Given the description of an element on the screen output the (x, y) to click on. 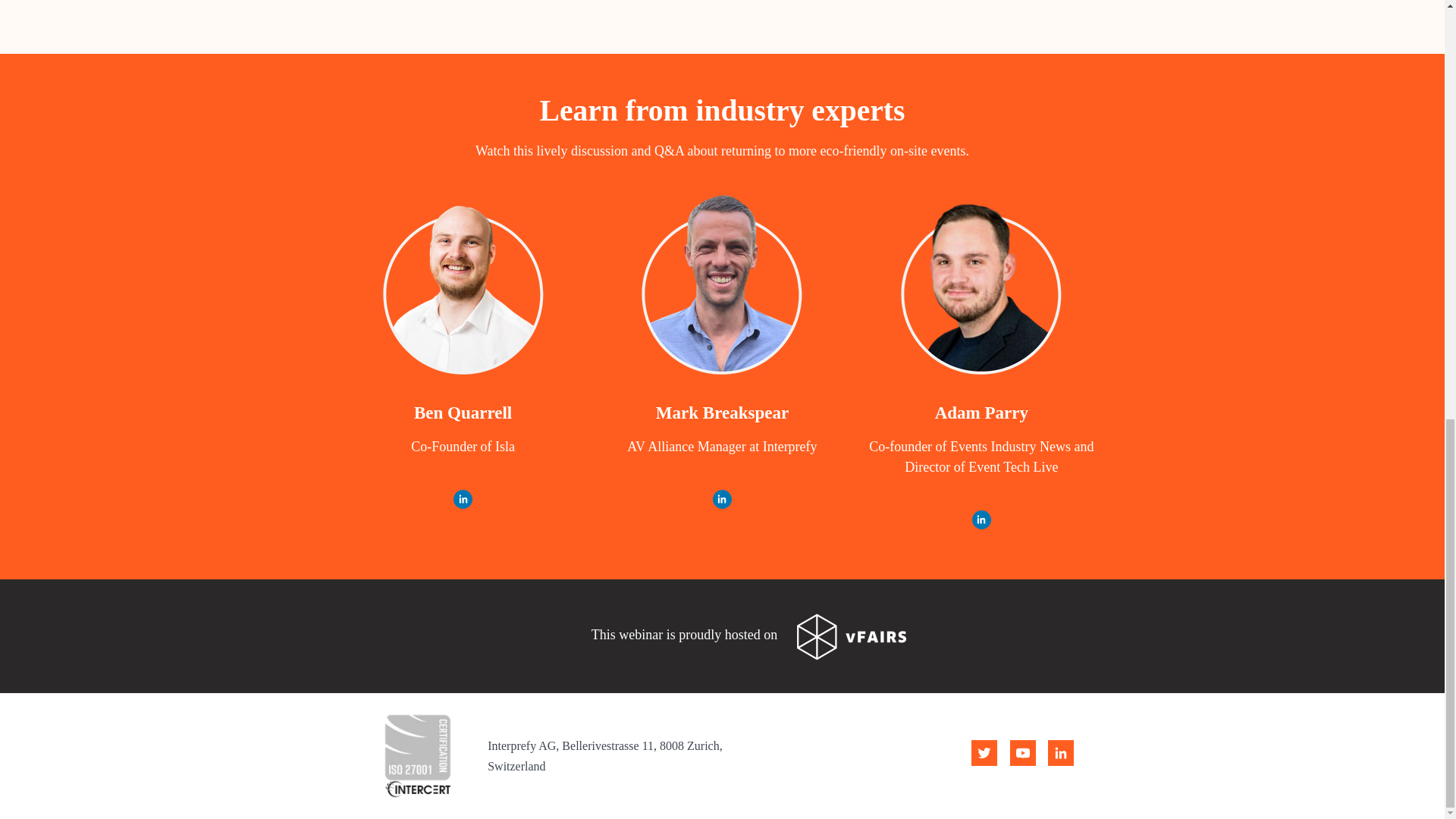
Interprefy Mark Breakspear (721, 286)
Interprefy Adam Parry (980, 286)
iso 27001 bw (416, 756)
Interprefy Ben Quarrell (462, 286)
